Given the description of an element on the screen output the (x, y) to click on. 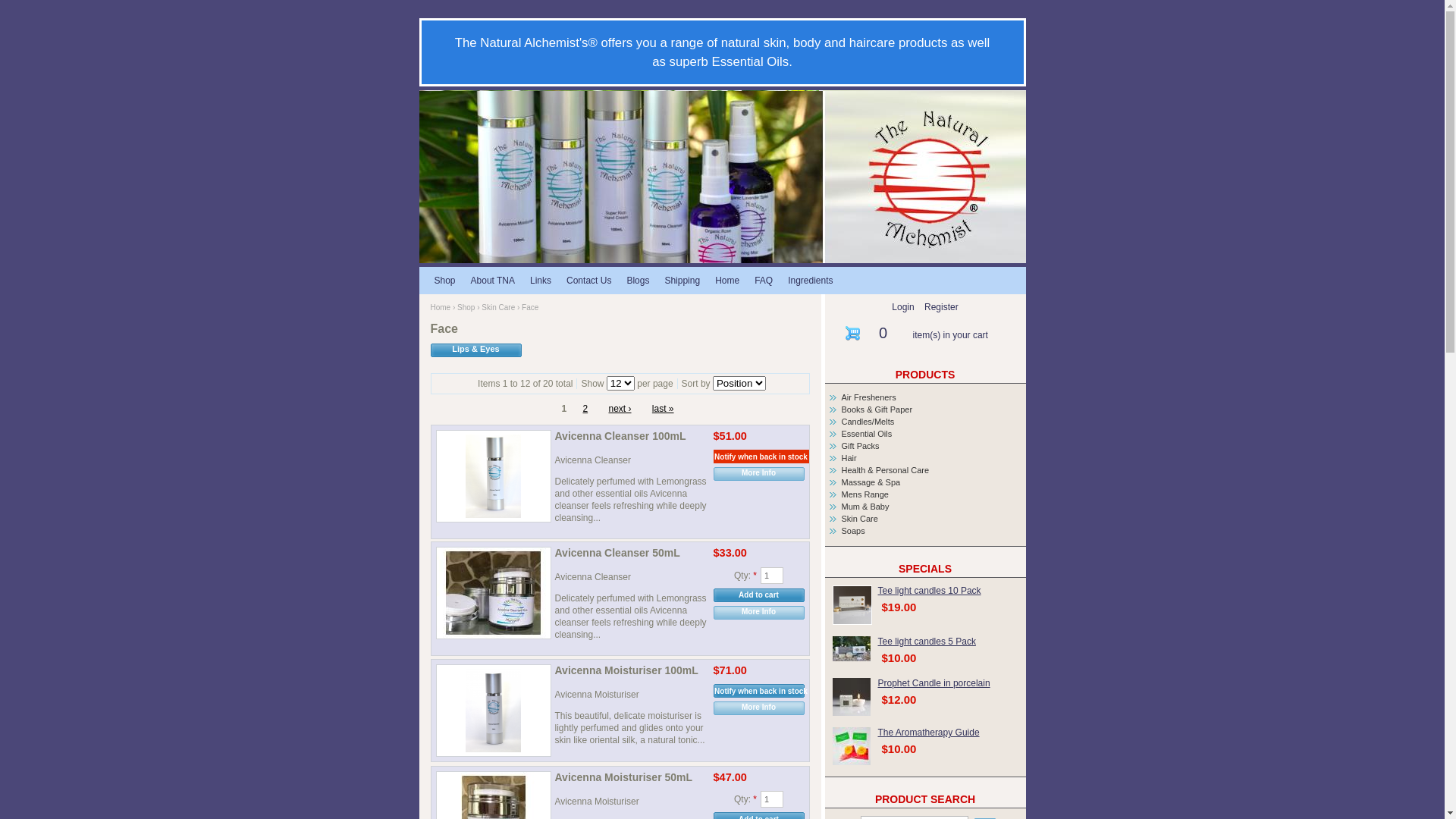
Face Element type: hover (721, 177)
Gift Packs Element type: text (860, 445)
Notify when back in stock Element type: text (760, 456)
Avicenna Cleanser 50mL Element type: text (631, 554)
Shipping Element type: text (681, 279)
Prophet Candle Element type: hover (851, 696)
Login Element type: text (902, 306)
More Info Element type: text (757, 612)
item(s) in your cart Element type: text (950, 334)
Add to cart Element type: text (757, 595)
Contact Us Element type: text (588, 279)
Prophet Candle in porcelain Element type: text (934, 682)
Links Element type: text (540, 279)
Blogs Element type: text (637, 279)
Home Element type: hover (721, 176)
FAQ Element type: text (763, 279)
Hair Element type: text (848, 457)
Mum & Baby Element type: text (865, 506)
Avicenna Moisturiser 100mL Element type: text (631, 672)
Air Fresheners Element type: text (868, 396)
Health & Personal Care Element type: text (885, 469)
Shop Element type: text (444, 279)
About TNA Element type: text (492, 279)
Books & Gift Paper Element type: text (877, 409)
Avicenna Moisturiser 50mL Element type: text (631, 779)
Home Element type: text (440, 307)
Avicenna Cleanser 100mL Element type: text (631, 437)
More Info Element type: text (757, 708)
Lips & Eyes Element type: text (475, 350)
The Aromatherapy Guide Element type: text (928, 732)
More Info Element type: text (757, 473)
Home Element type: text (726, 279)
Skin Care Element type: text (859, 518)
Candles/Melts Element type: text (867, 421)
Notify when back in stock Element type: text (760, 690)
Tee light candles 5 Pack Element type: text (926, 641)
Ingredients Element type: text (810, 279)
Skin Care Element type: text (497, 307)
Massage & Spa Element type: text (870, 481)
Soaps Element type: text (853, 530)
Mens Range Element type: text (864, 493)
Shop Element type: text (465, 307)
0 Element type: text (882, 332)
Tee light candles 10 Pack Element type: text (929, 590)
2 Element type: text (584, 408)
Tee light candles 5 Pack Element type: hover (851, 648)
Register Element type: text (941, 306)
Essential Oils Element type: text (866, 433)
Tee light candles 10 Pack Element type: hover (852, 604)
